Given the description of an element on the screen output the (x, y) to click on. 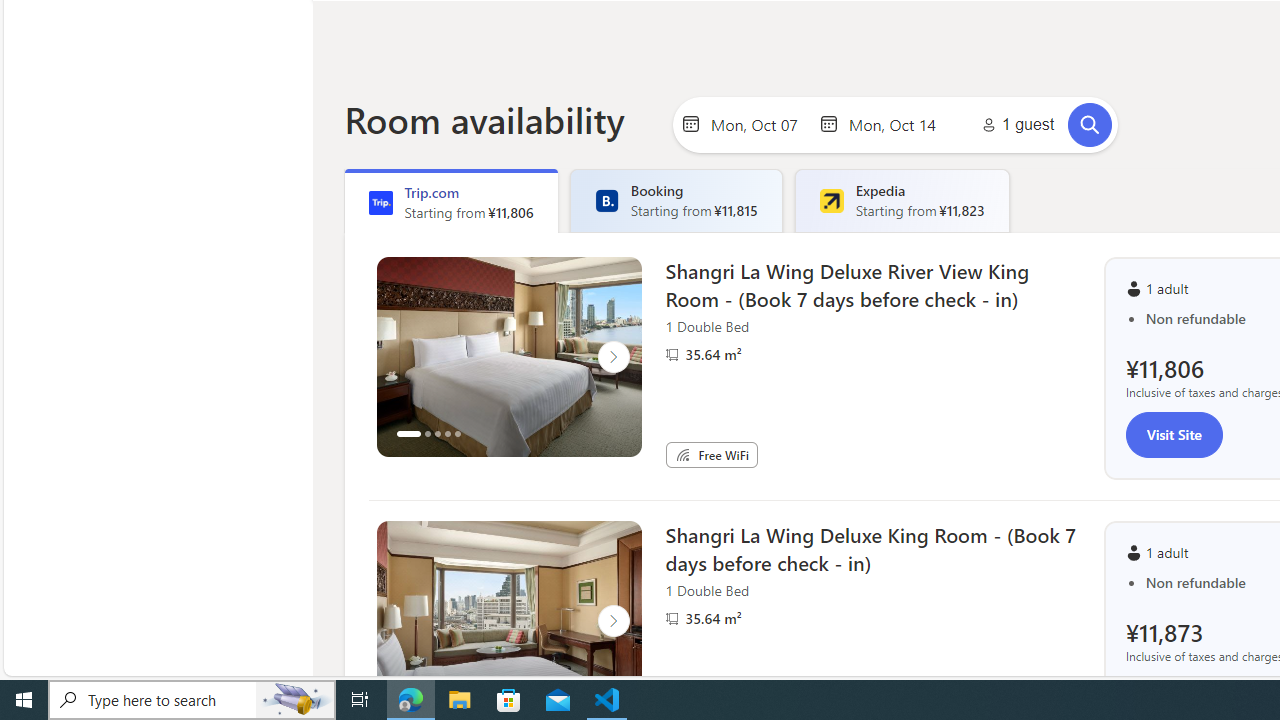
TripDotCom (380, 202)
Visit Site (1173, 434)
1 guest (1014, 124)
End date (897, 123)
Click to scroll right (612, 620)
Expedia (831, 200)
Free WiFi (682, 454)
Partner Image (671, 618)
Start Date (759, 123)
Booking (606, 200)
